Given the description of an element on the screen output the (x, y) to click on. 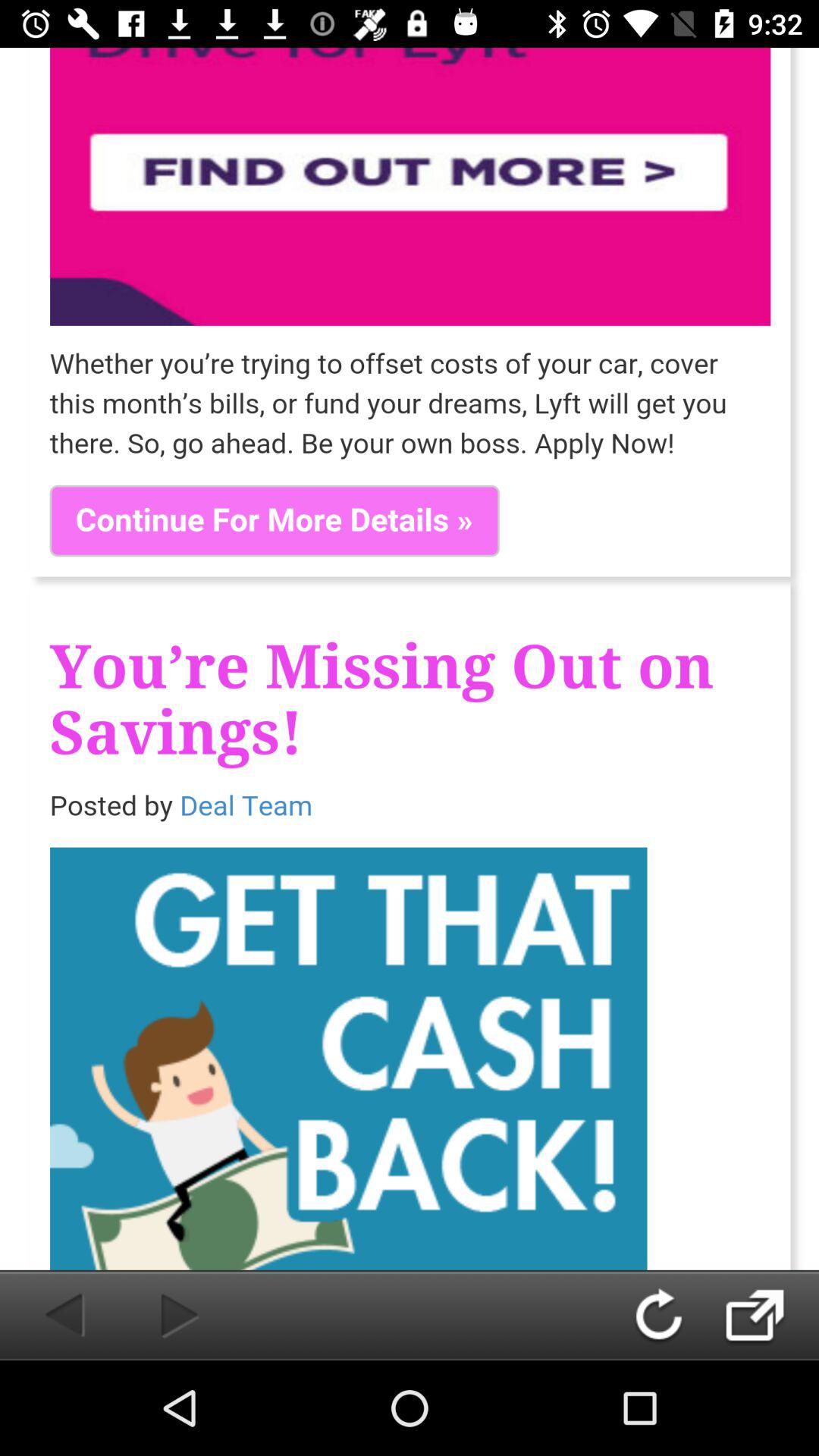
previous button (48, 1315)
